Given the description of an element on the screen output the (x, y) to click on. 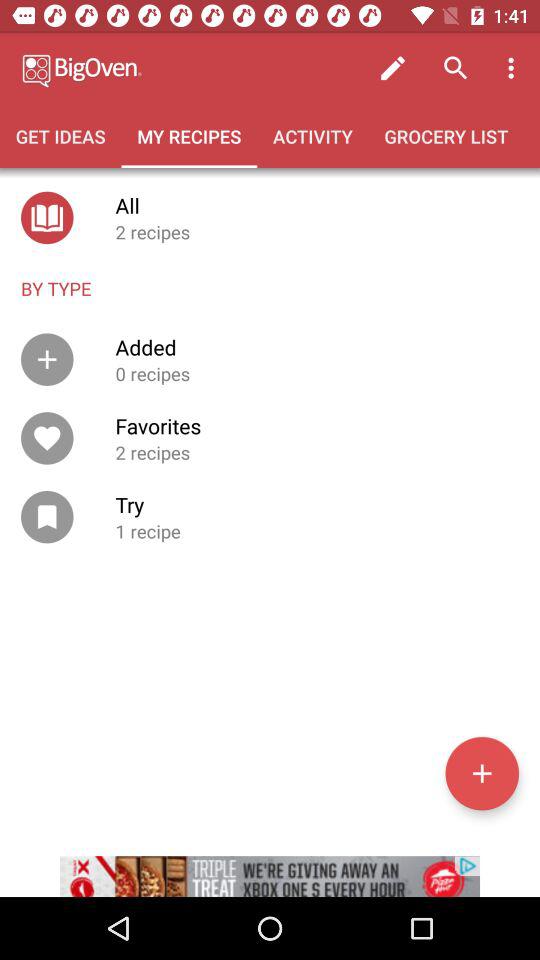
pop-up advertisement (270, 864)
